Given the description of an element on the screen output the (x, y) to click on. 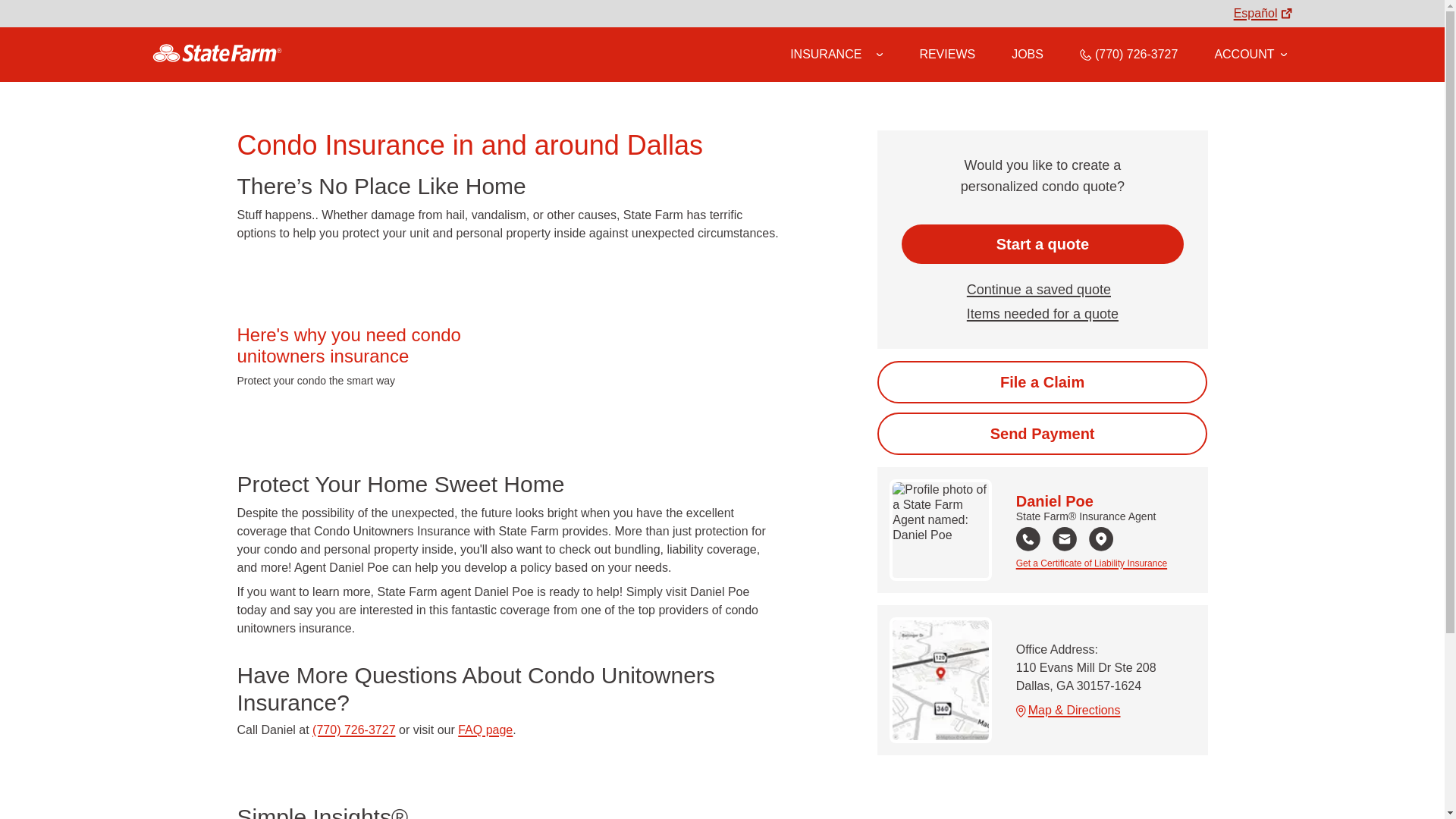
INSURANCE (825, 54)
FAQ page (485, 729)
Insurance (836, 54)
ACCOUNT (1250, 54)
Account Options (1250, 54)
REVIEWS (946, 54)
Start the claim process online (1042, 382)
JOBS (1027, 54)
